Given the description of an element on the screen output the (x, y) to click on. 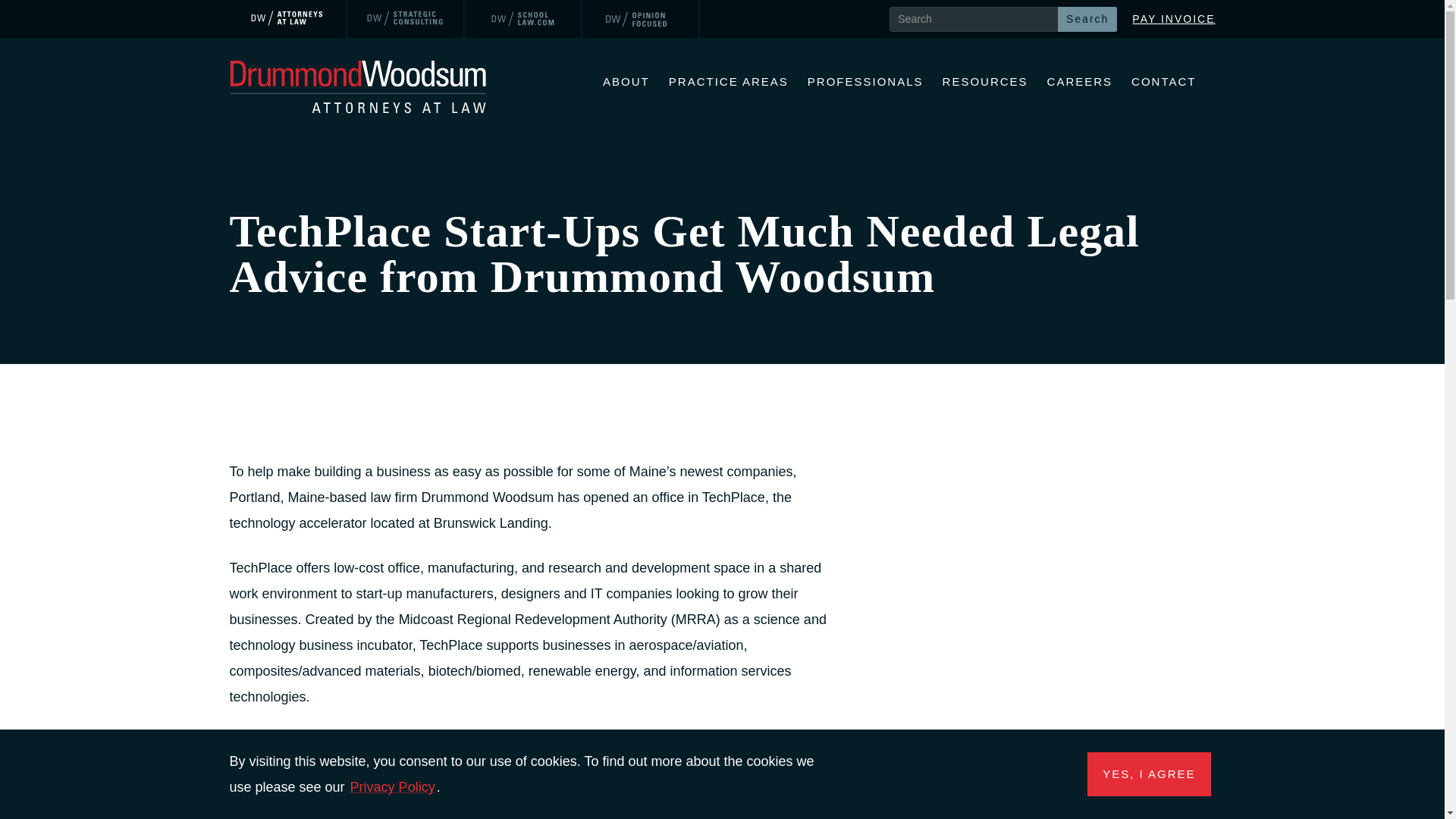
PROFESSIONALS (865, 82)
Search (1087, 18)
CAREERS (1079, 82)
PAY INVOICE (1173, 18)
YES, I AGREE (1148, 773)
ABOUT (625, 82)
PRACTICE AREAS (728, 82)
CONTACT (1163, 82)
Privacy Policy (392, 787)
RESOURCES (984, 82)
Search (1087, 18)
Search (1087, 18)
